Given the description of an element on the screen output the (x, y) to click on. 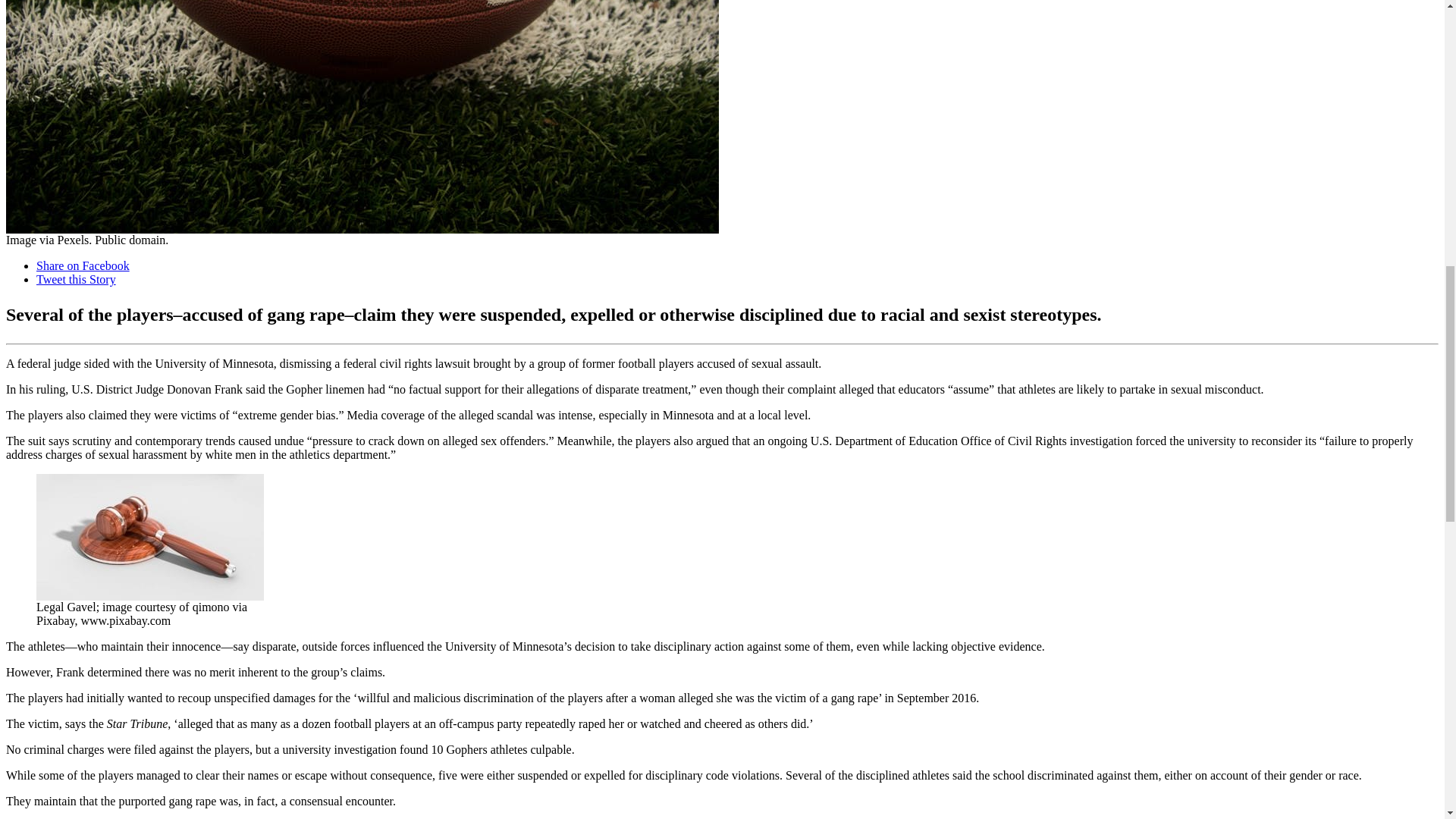
Share on Facebook (82, 265)
Share on twitter (76, 278)
Share on facebook (82, 265)
Tweet this Story (76, 278)
